Given the description of an element on the screen output the (x, y) to click on. 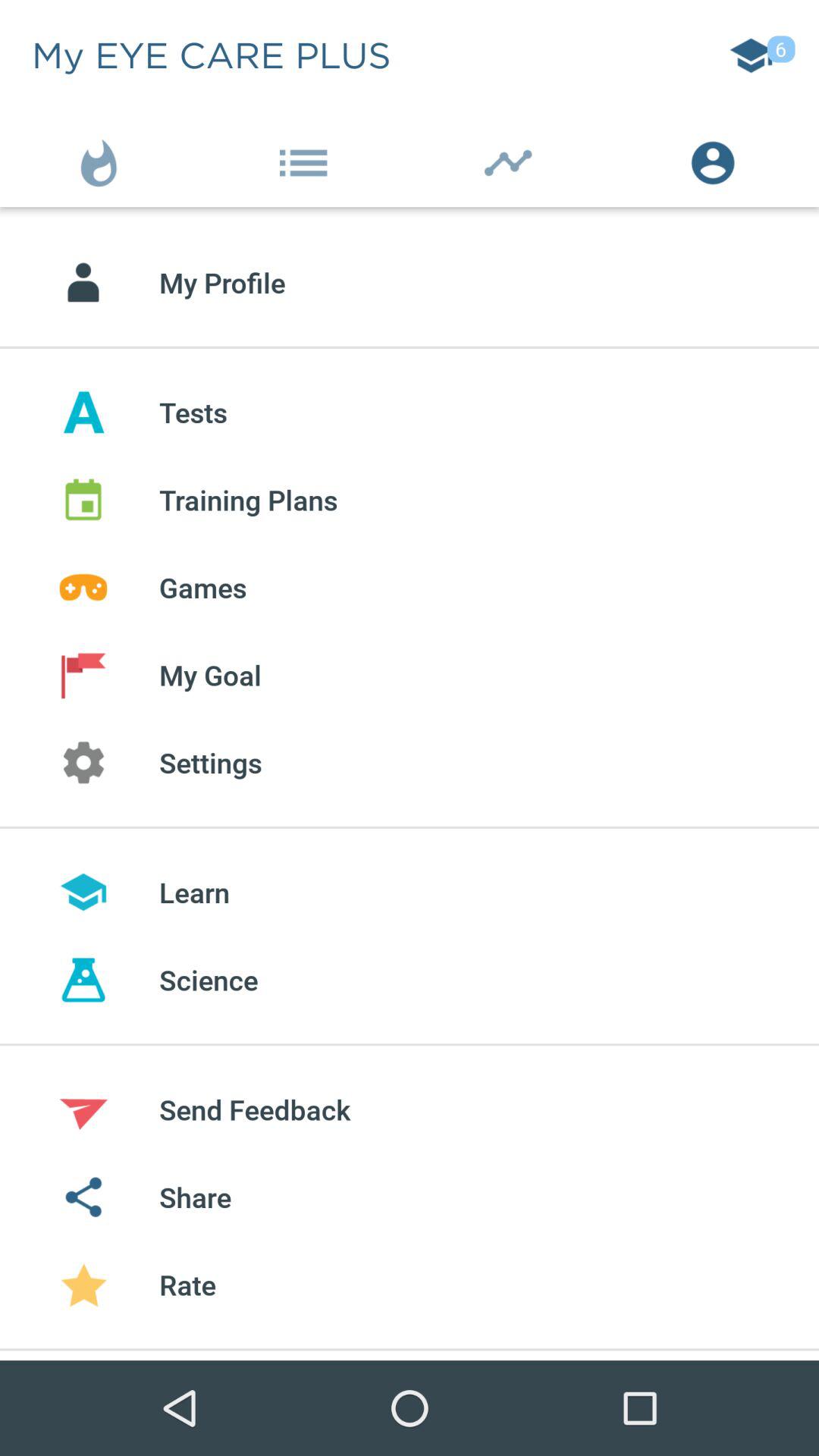
launch icon below my eye care item (102, 159)
